Given the description of an element on the screen output the (x, y) to click on. 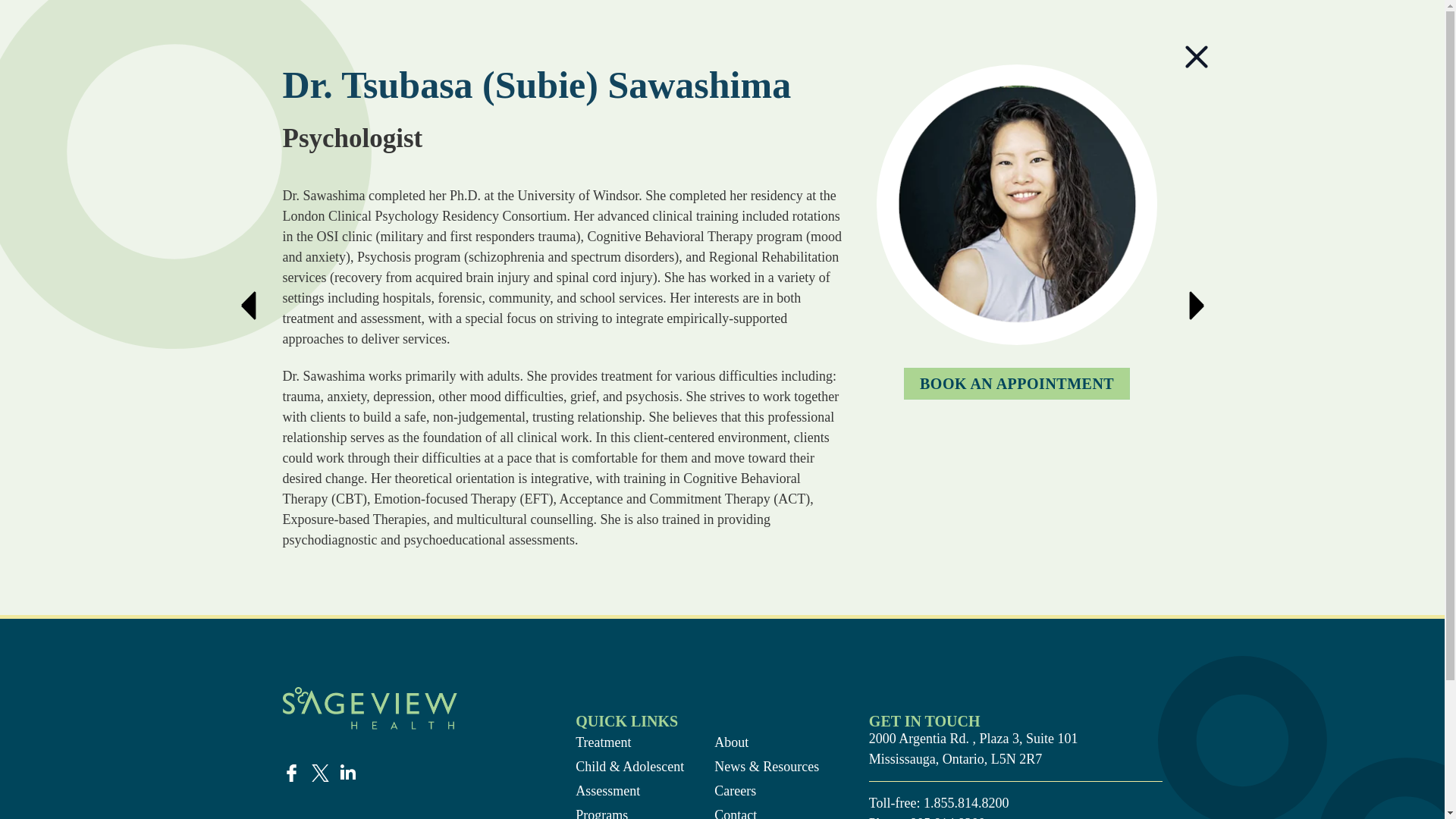
Programs (629, 812)
Submit (439, 558)
905.814.8200 (947, 817)
Assessment (629, 791)
1.855.814.8200 (966, 802)
Careers (768, 791)
Treatment (629, 742)
Contact (768, 812)
About (768, 742)
